Given the description of an element on the screen output the (x, y) to click on. 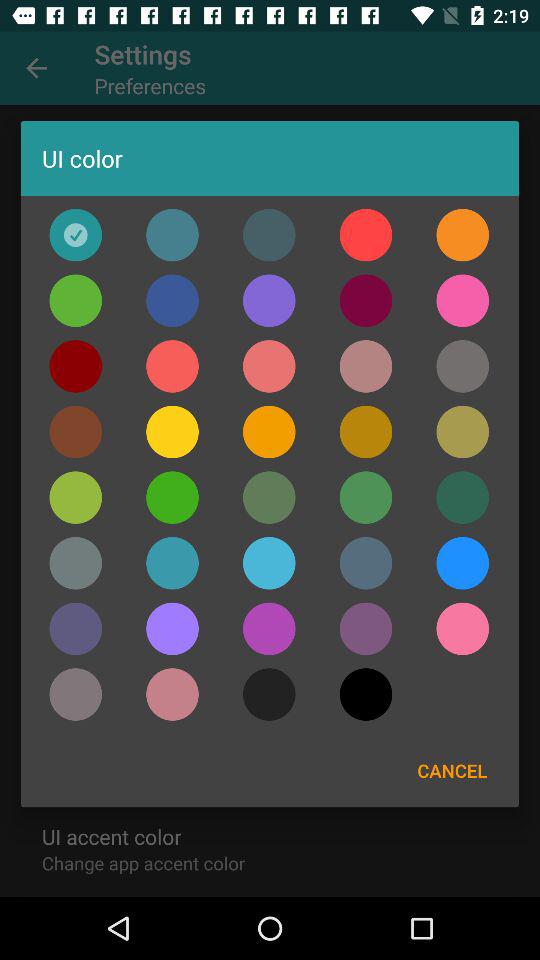
select color (269, 628)
